Given the description of an element on the screen output the (x, y) to click on. 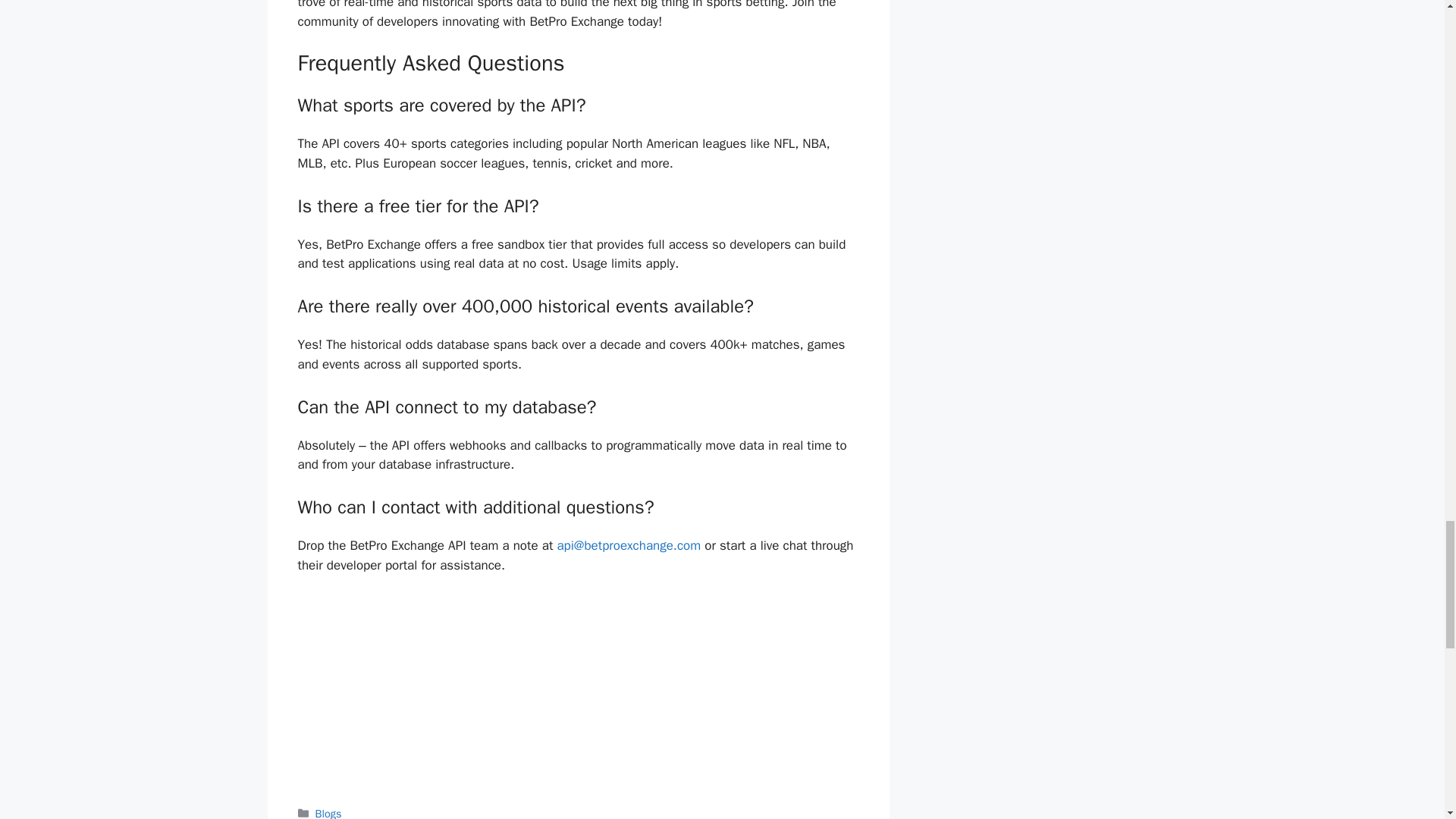
Blogs (328, 812)
